Given the description of an element on the screen output the (x, y) to click on. 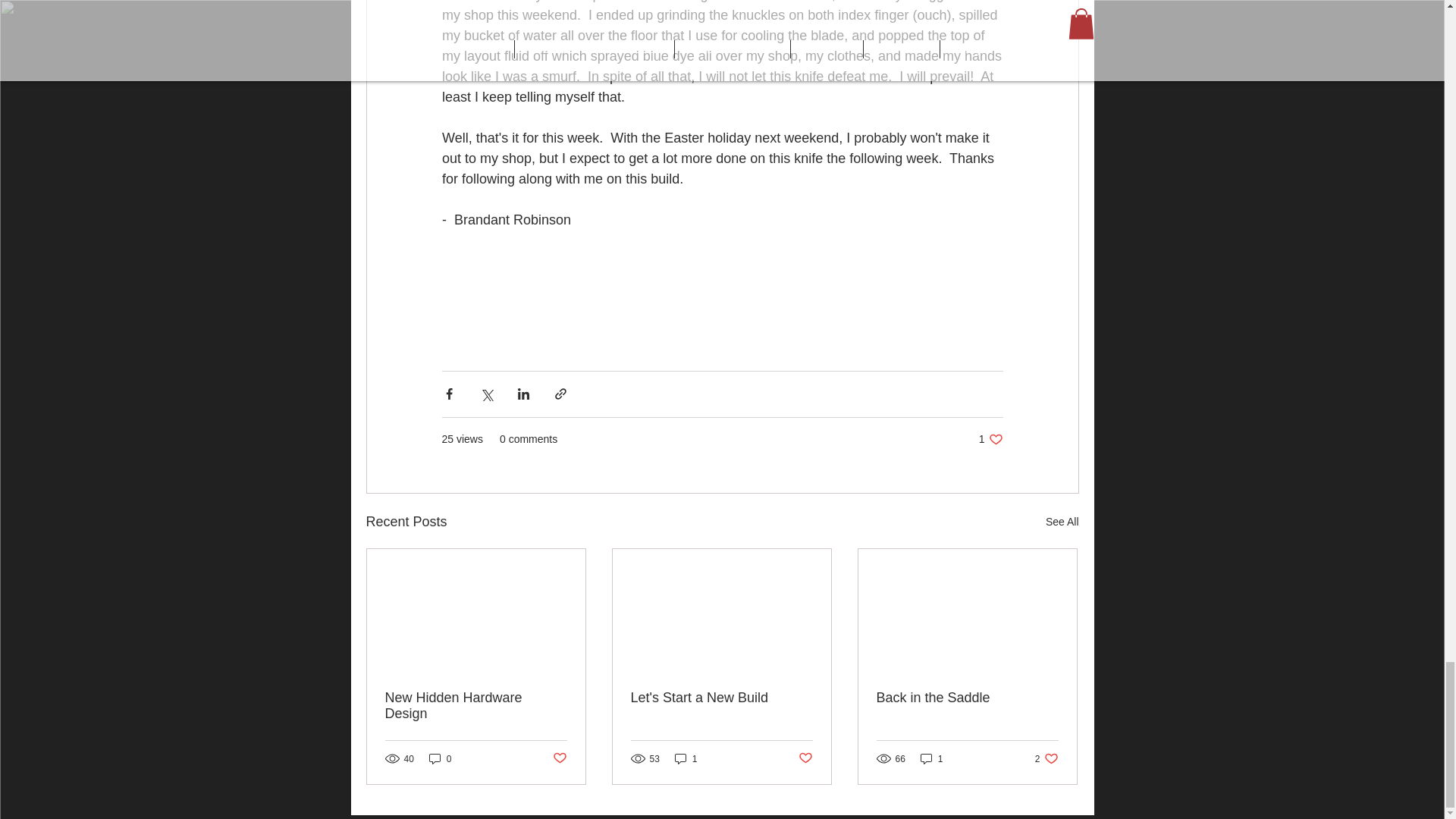
0 (440, 758)
Back in the Saddle (967, 697)
Post not marked as liked (558, 758)
1 (931, 758)
See All (1061, 522)
1 (990, 439)
Post not marked as liked (685, 758)
Let's Start a New Build (804, 758)
